Given the description of an element on the screen output the (x, y) to click on. 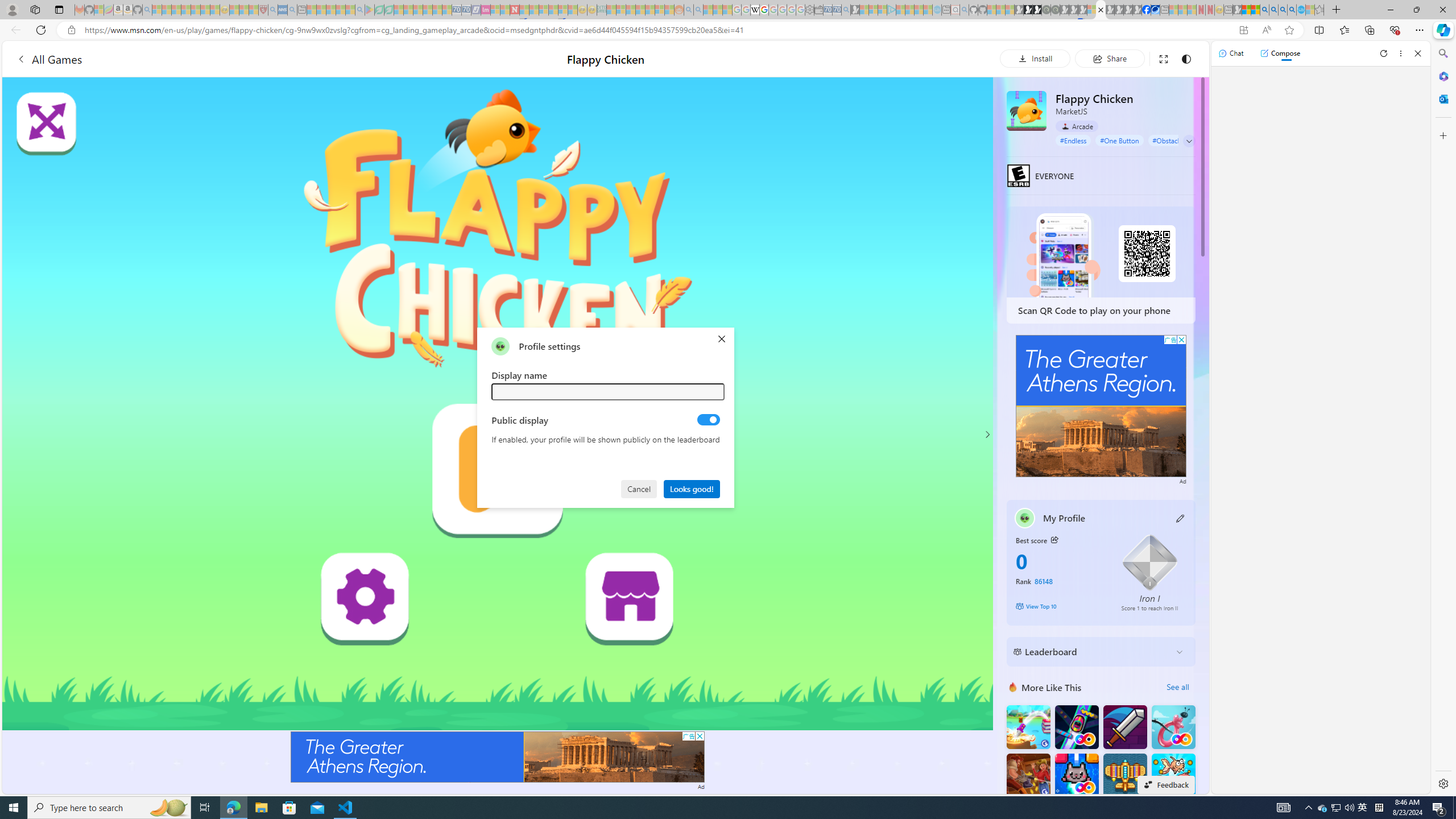
#Obstacle Course (1178, 140)
2009 Bing officially replaced Live Search on June 3 - Search (1272, 9)
Nordace | Facebook (1146, 9)
Kitten Force FRVR (1076, 775)
Class: expand-arrow neutral (1188, 141)
